Given the description of an element on the screen output the (x, y) to click on. 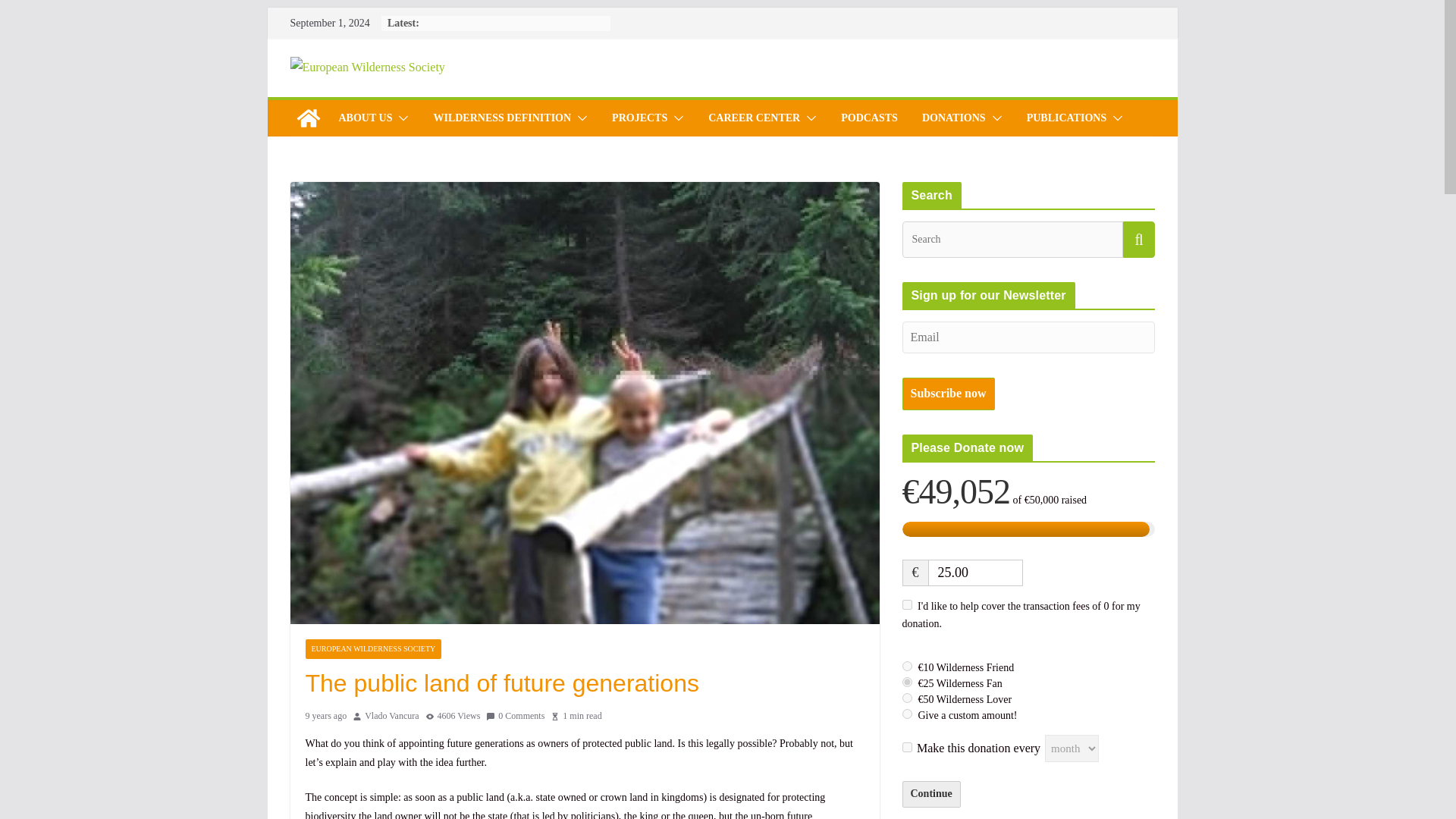
on (907, 747)
50.00 (907, 697)
custom (907, 714)
Vlado Vancura (392, 716)
Subscribe now (948, 393)
ABOUT US (364, 117)
10.00 (907, 665)
25.00 (975, 572)
European Wilderness Society (307, 117)
